Given the description of an element on the screen output the (x, y) to click on. 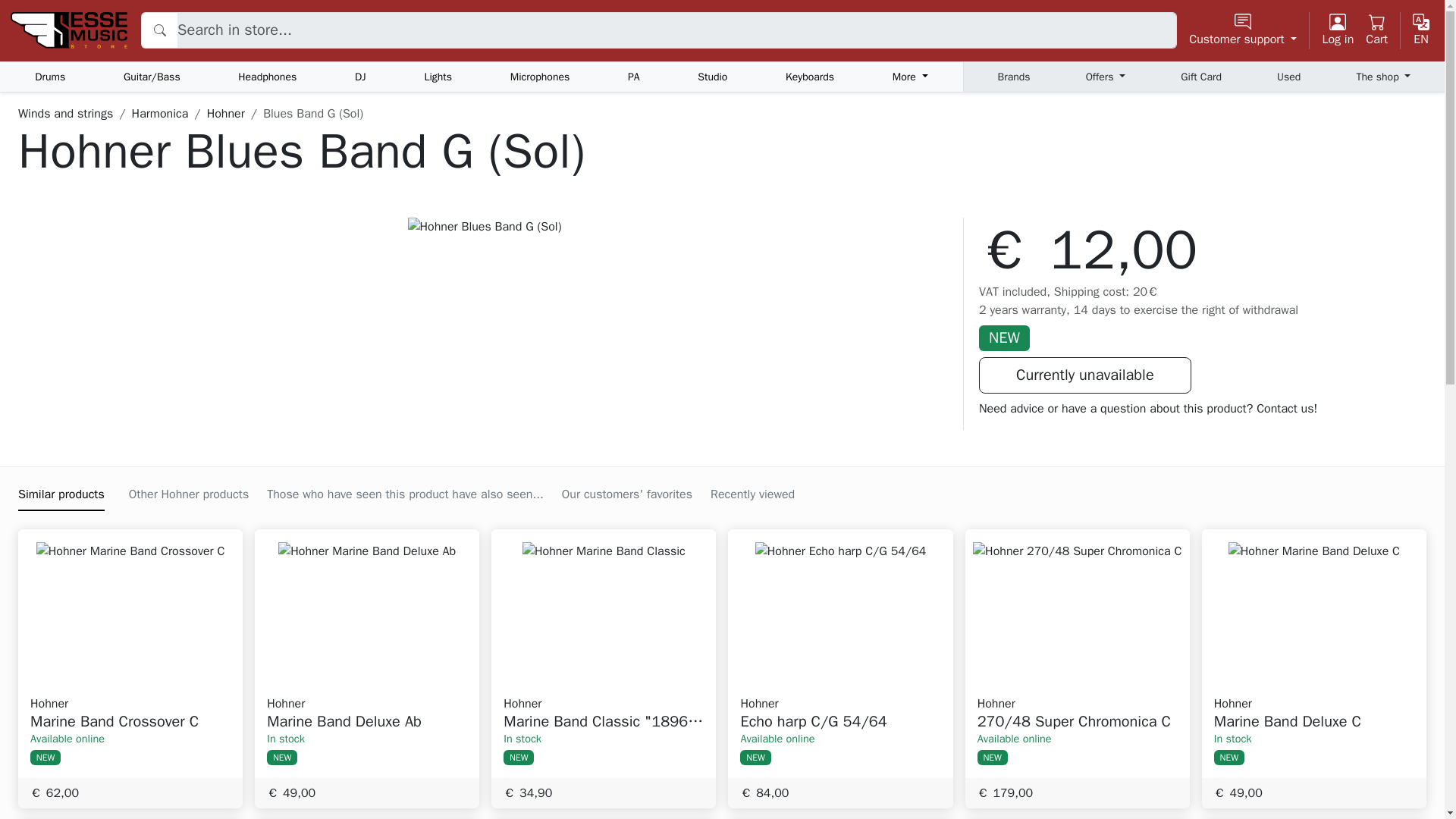
Recently viewed (752, 495)
Those who have seen this product have also seen... (404, 495)
Lights (437, 76)
Our customers' favorites (627, 495)
More (909, 76)
Used (1288, 76)
Studio (711, 76)
Brands (1013, 76)
Gift Card (1200, 76)
Offers (1105, 76)
Currently unavailable (1084, 375)
Drums (49, 76)
DJ (359, 76)
Headphones (266, 76)
Winds and strings (65, 113)
